Given the description of an element on the screen output the (x, y) to click on. 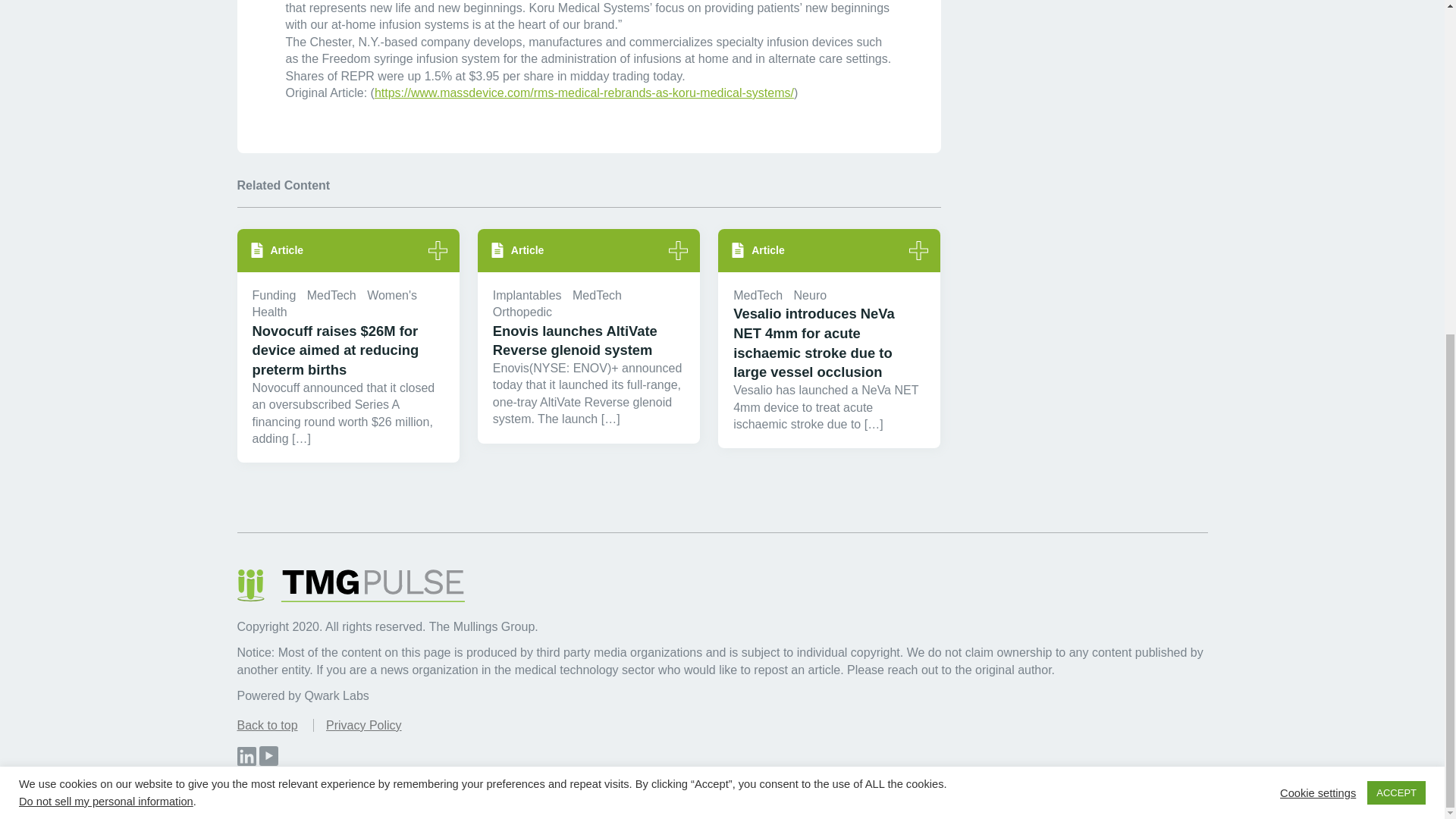
Read Enovis launches AltiVate Reverse glenoid system (588, 341)
Save this article for later (918, 250)
Save this article for later (437, 250)
Save this article for later (677, 250)
